Given the description of an element on the screen output the (x, y) to click on. 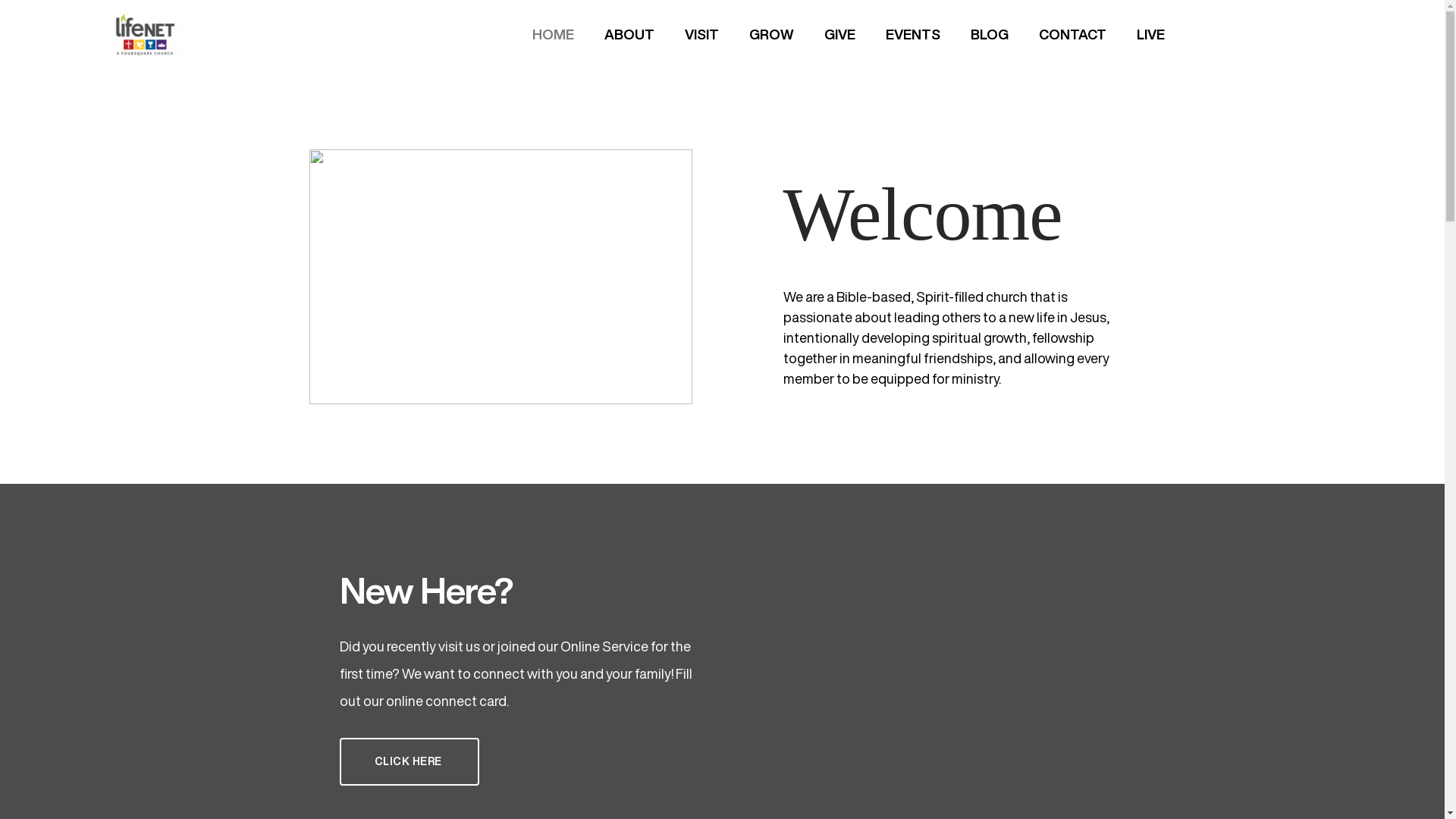
ABOUT Element type: text (629, 35)
HOME Element type: text (552, 35)
GIVE Element type: text (839, 35)
CONTACT Element type: text (1072, 35)
CLICK HERE  Element type: text (409, 761)
EVENTS Element type: text (912, 35)
LIVE Element type: text (1150, 35)
GROW Element type: text (771, 35)
VISIT Element type: text (701, 35)
BLOG Element type: text (989, 35)
